Given the description of an element on the screen output the (x, y) to click on. 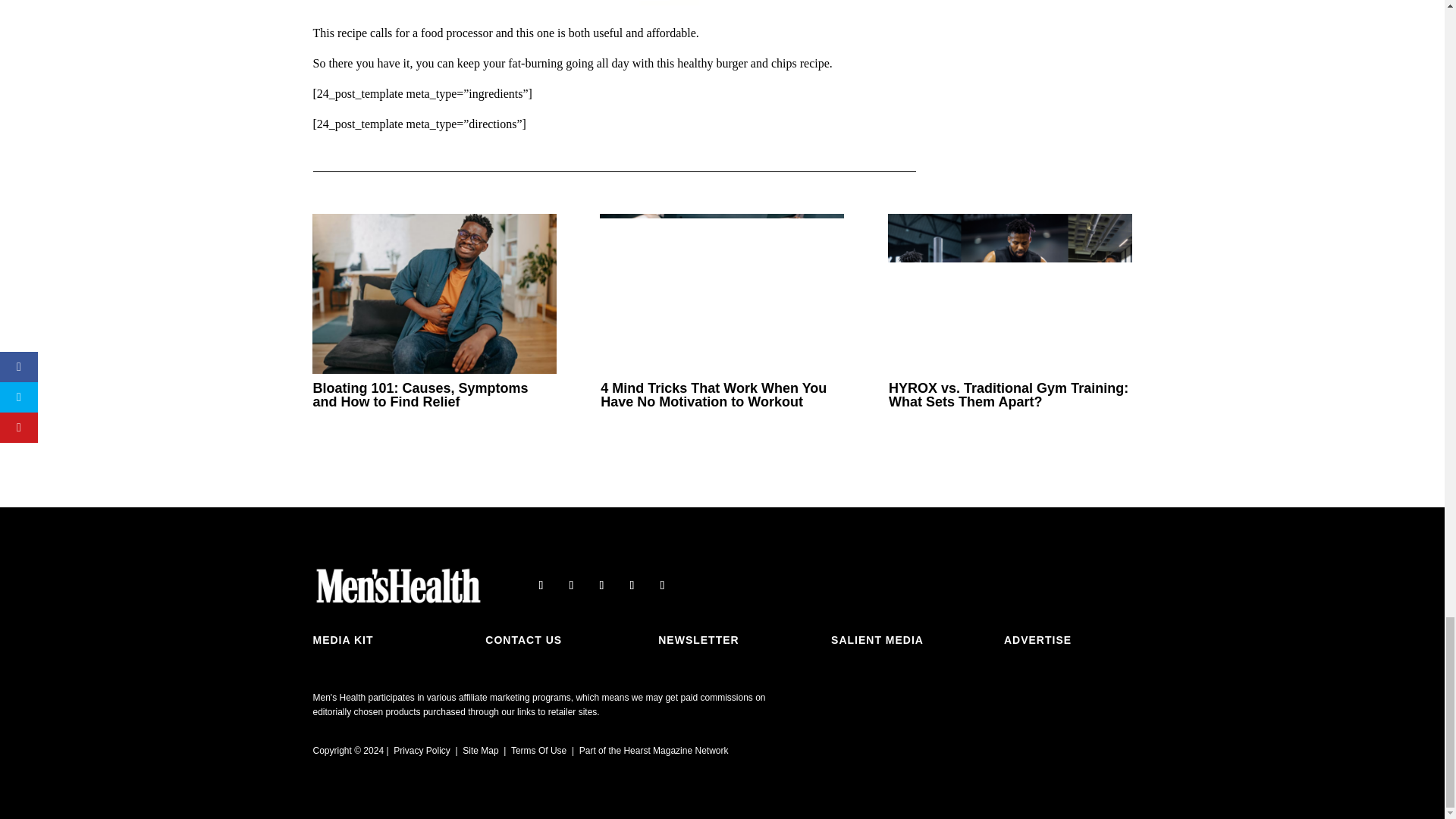
Follow on TikTok (661, 585)
Follow on Instagram (600, 585)
Follow on Youtube (631, 585)
Follow on X (571, 585)
Follow on Facebook (540, 585)
